Given the description of an element on the screen output the (x, y) to click on. 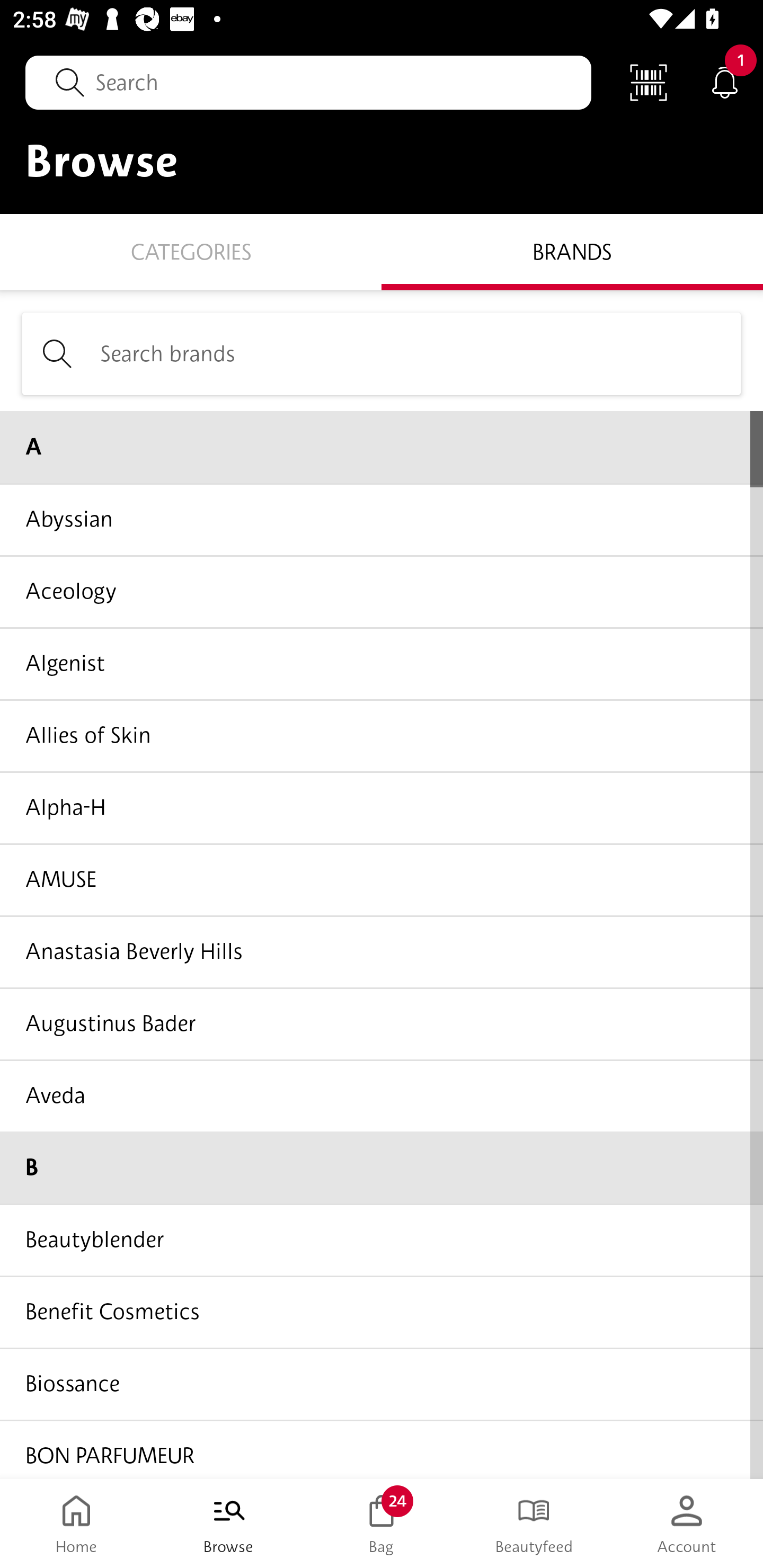
Scan Code (648, 81)
Notifications (724, 81)
Search (308, 81)
Categories CATEGORIES (190, 251)
Search brands (381, 353)
A (381, 446)
Abyssian (381, 518)
Aceology (381, 591)
Algenist (381, 663)
Allies of Skin (381, 735)
Alpha-H (381, 807)
AMUSE (381, 879)
Anastasia Beverly Hills (381, 951)
Augustinus Bader (381, 1023)
Aveda (381, 1095)
B (381, 1168)
Beautyblender (381, 1240)
Benefit Cosmetics (381, 1311)
Biossance (381, 1382)
BON PARFUMEUR (381, 1448)
Home (76, 1523)
Bag 24 Bag (381, 1523)
Beautyfeed (533, 1523)
Account (686, 1523)
